Given the description of an element on the screen output the (x, y) to click on. 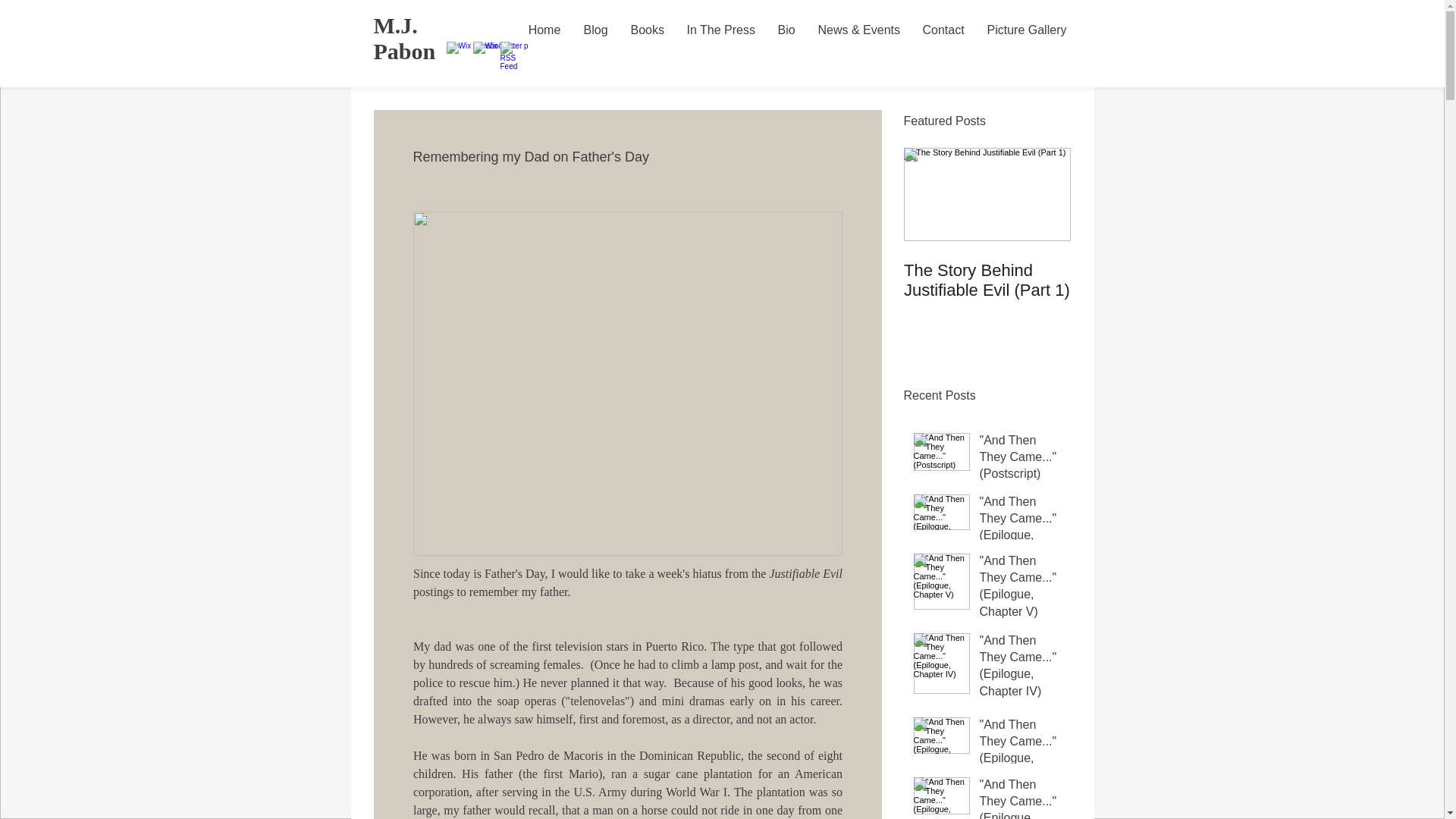
Books (646, 29)
Home (544, 29)
Contact (943, 29)
In The Press (720, 29)
Picture Gallery (1026, 29)
RSS Feed (512, 52)
Blog (595, 29)
Bio (785, 29)
